Given the description of an element on the screen output the (x, y) to click on. 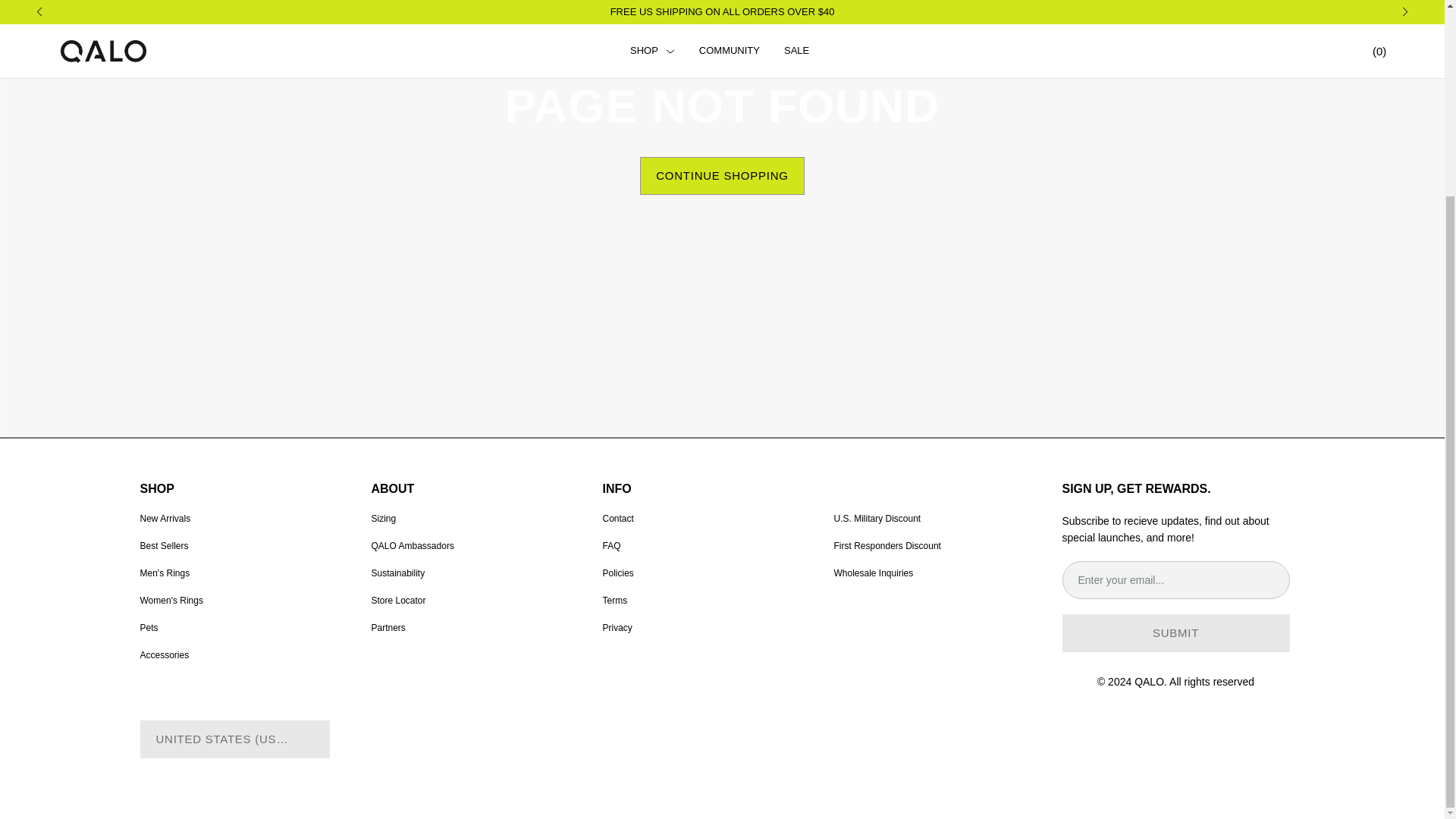
QALO Ambassadors (412, 545)
Men's Rings (164, 573)
First Responders Discount (887, 545)
Women's Rings (170, 600)
Sustainability (398, 573)
U.S. Military Discount (877, 518)
SUBMIT (1174, 632)
FAQ (611, 545)
Pets (148, 627)
CONTINUE SHOPPING (721, 175)
Terms (614, 600)
Store Locator (398, 600)
Accessories (164, 655)
Policies (617, 573)
Contact (617, 518)
